Given the description of an element on the screen output the (x, y) to click on. 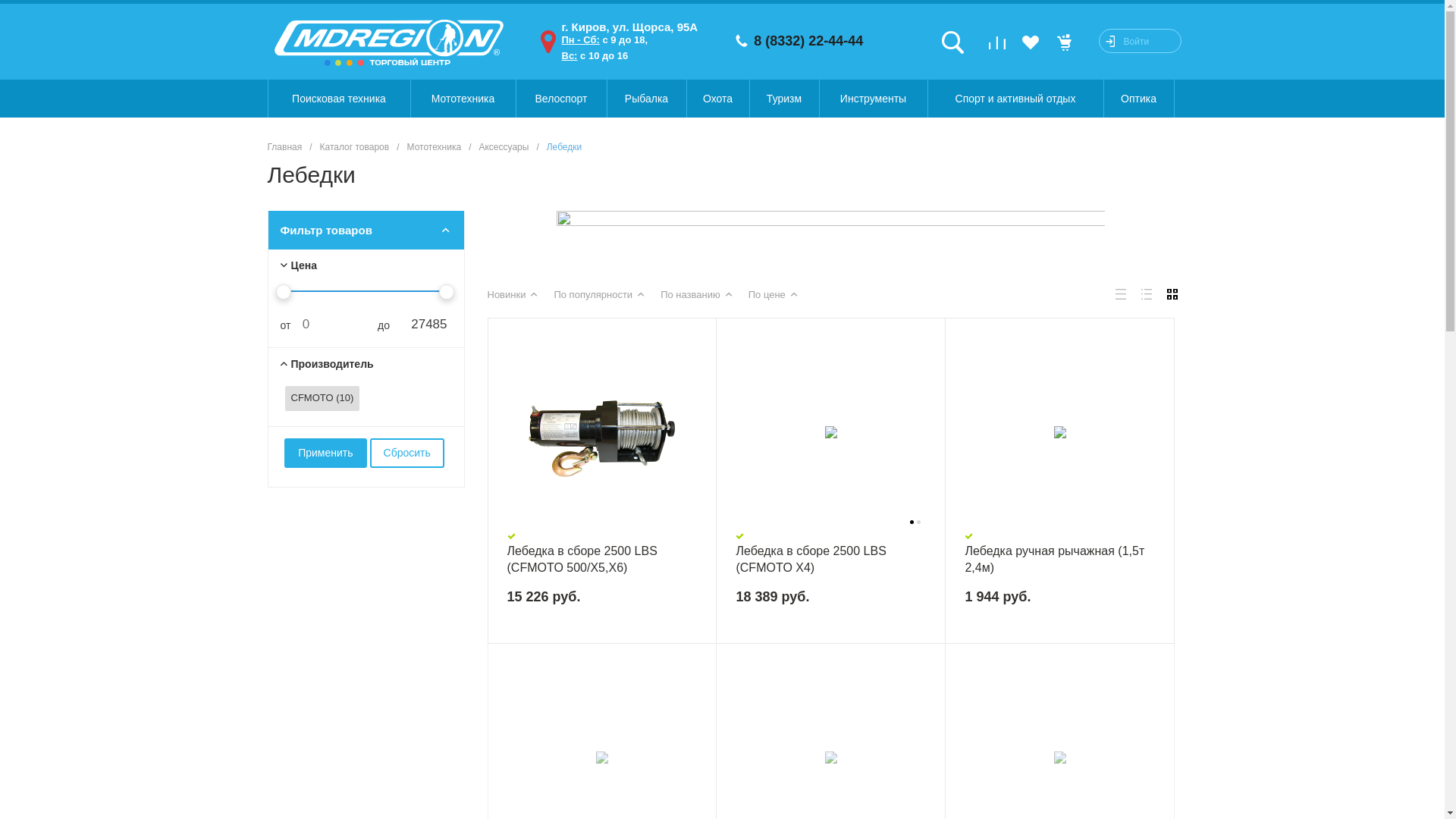
Y Element type: text (4, 4)
8 (8332) 22-44-44 Element type: text (807, 41)
